Given the description of an element on the screen output the (x, y) to click on. 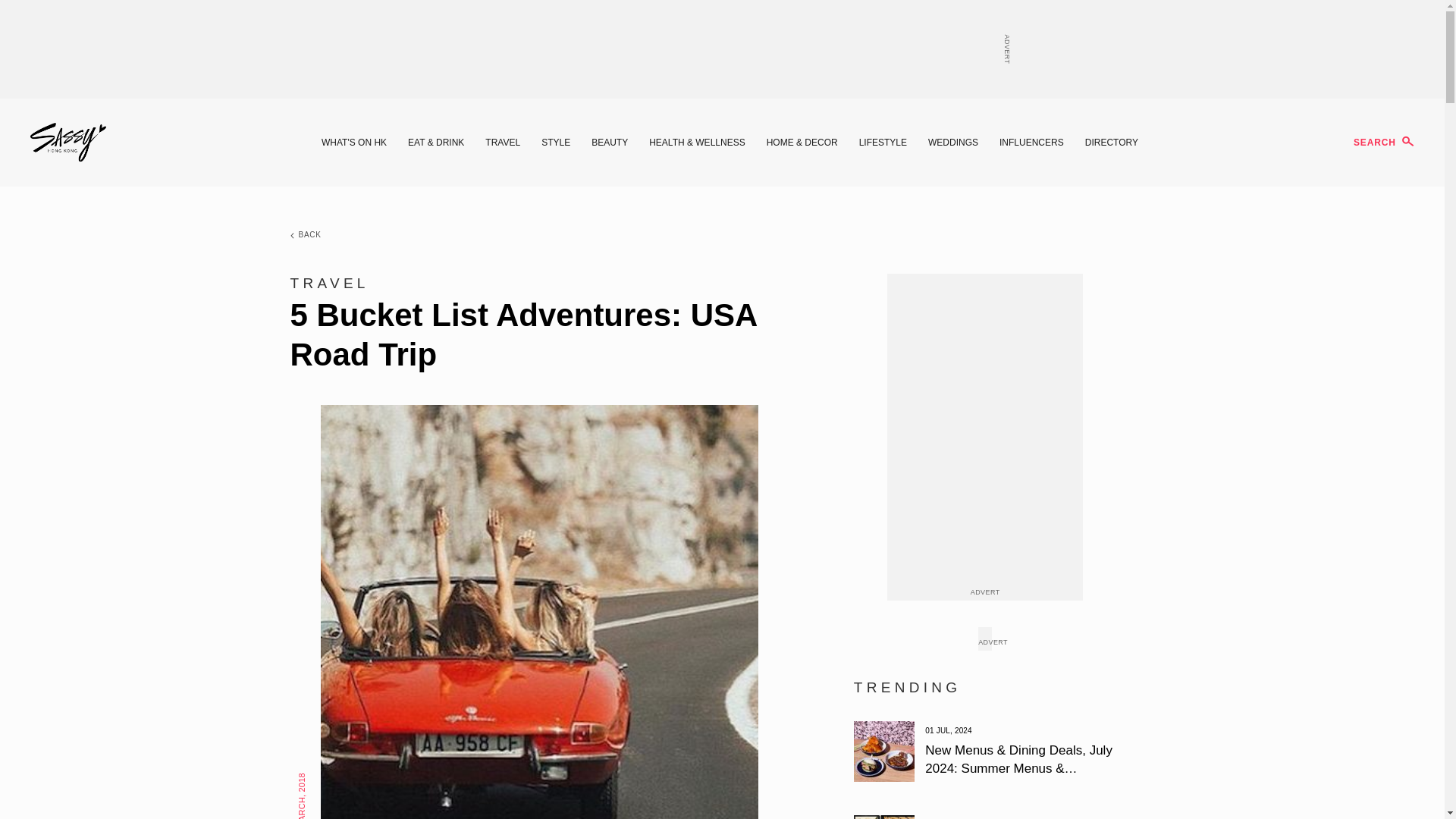
3rd party ad content (721, 49)
WHAT'S ON HK (354, 142)
TRAVEL (501, 142)
Sassy Hong Kong (68, 142)
